Given the description of an element on the screen output the (x, y) to click on. 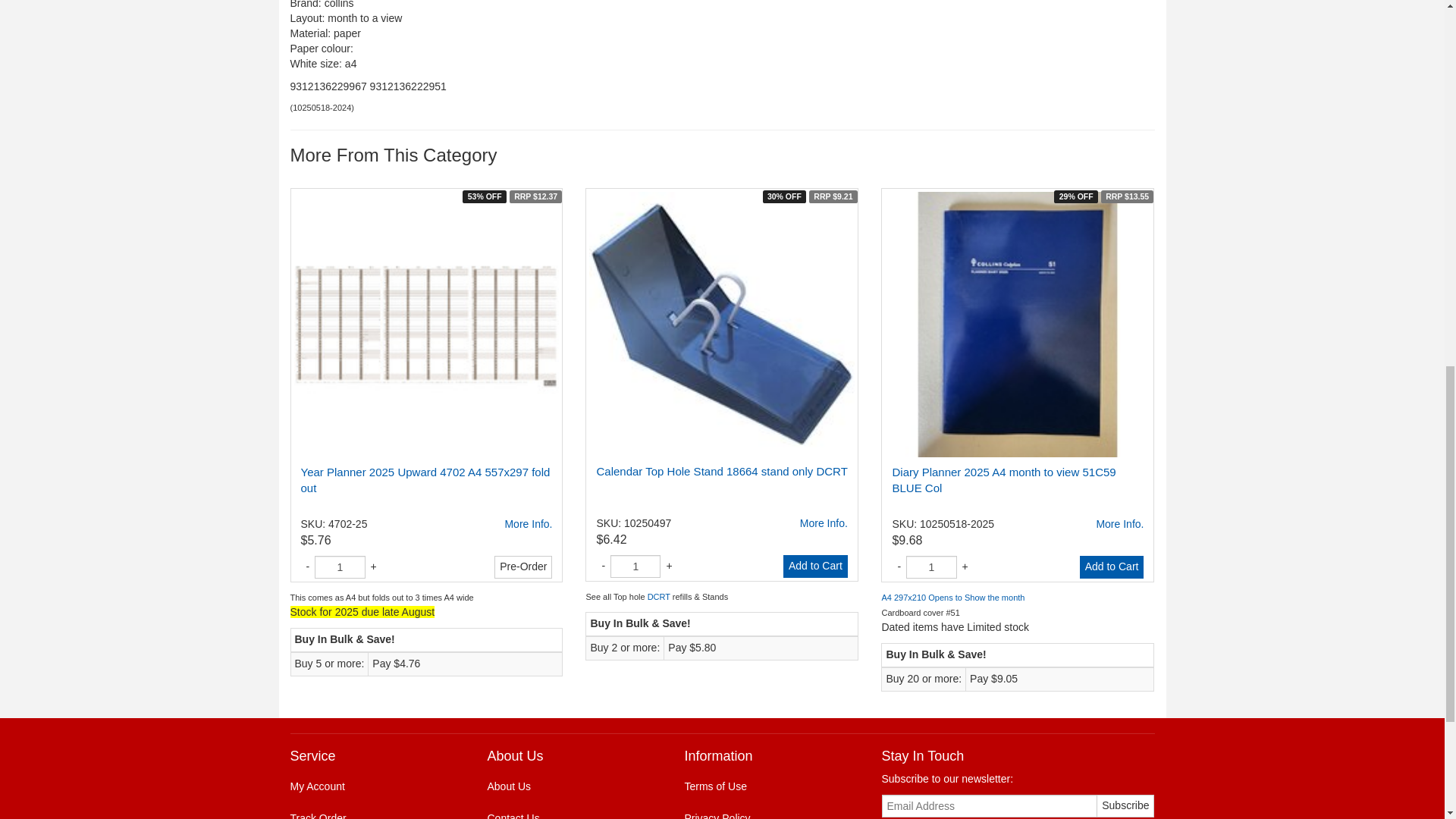
1 (930, 567)
Calendar Top Hole Stand 18664 stand only DCRT (823, 523)
Pre-Order Now! (523, 567)
1 (339, 567)
Subscribe (1125, 805)
Calendar Top Hole Stand 18664 stand only DCRT (721, 471)
Add to Cart (815, 566)
1 (635, 566)
Add to Cart (1112, 567)
